Given the description of an element on the screen output the (x, y) to click on. 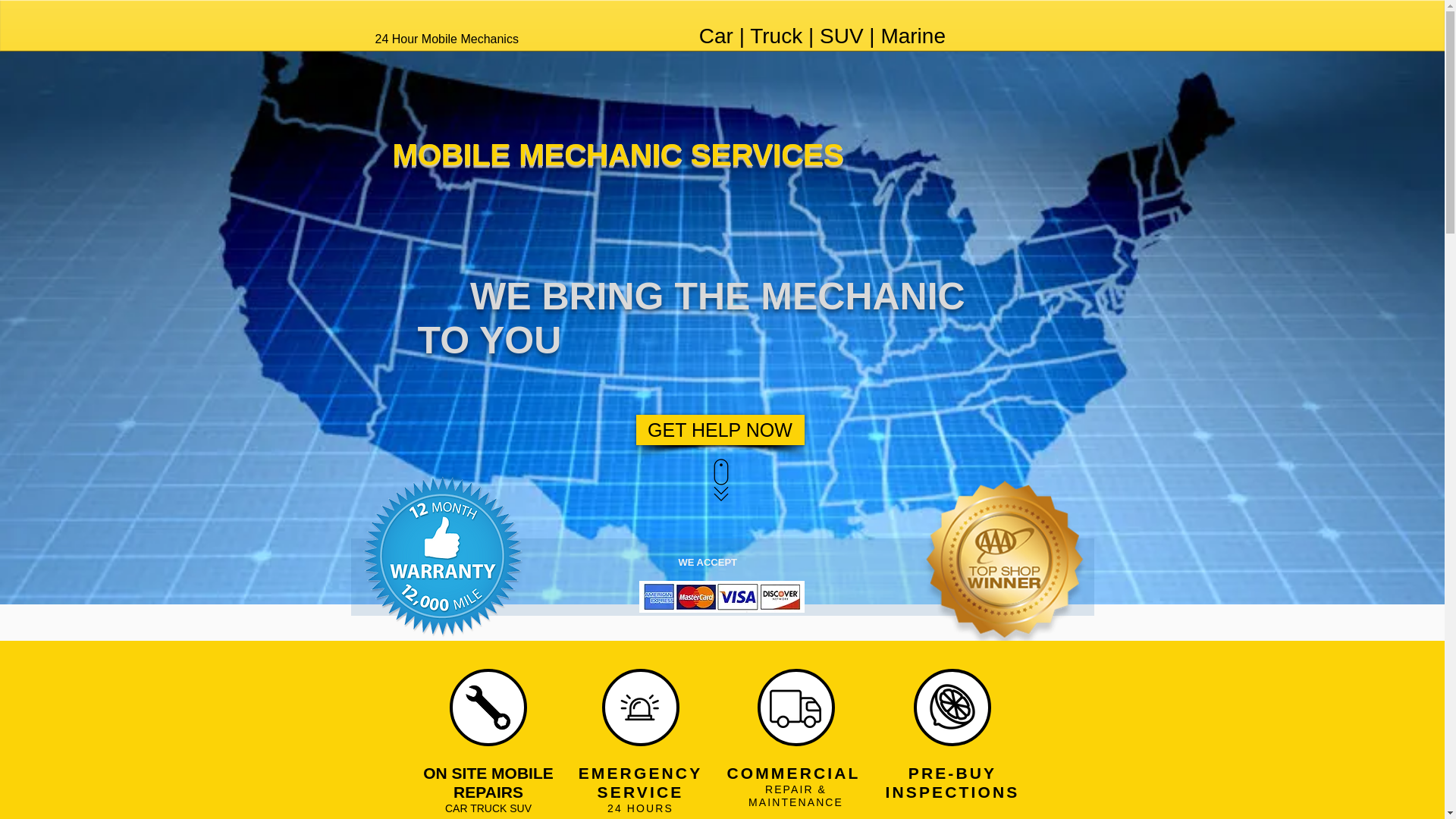
Home (733, 4)
Scroll down for more (719, 479)
GET HELP NOW (718, 429)
